Given the description of an element on the screen output the (x, y) to click on. 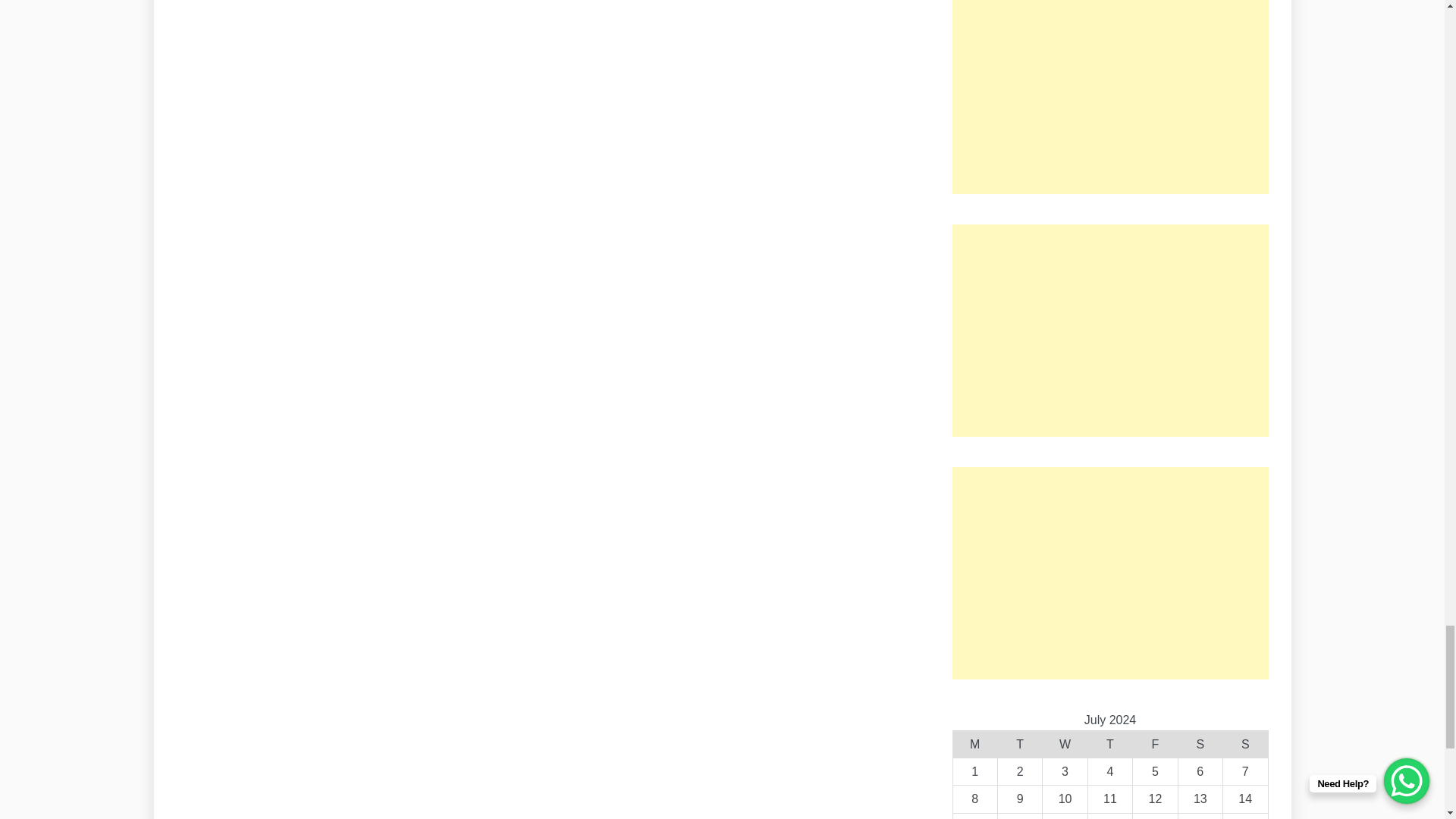
Wednesday (1064, 744)
Thursday (1109, 744)
Tuesday (1019, 744)
Monday (974, 744)
